Given the description of an element on the screen output the (x, y) to click on. 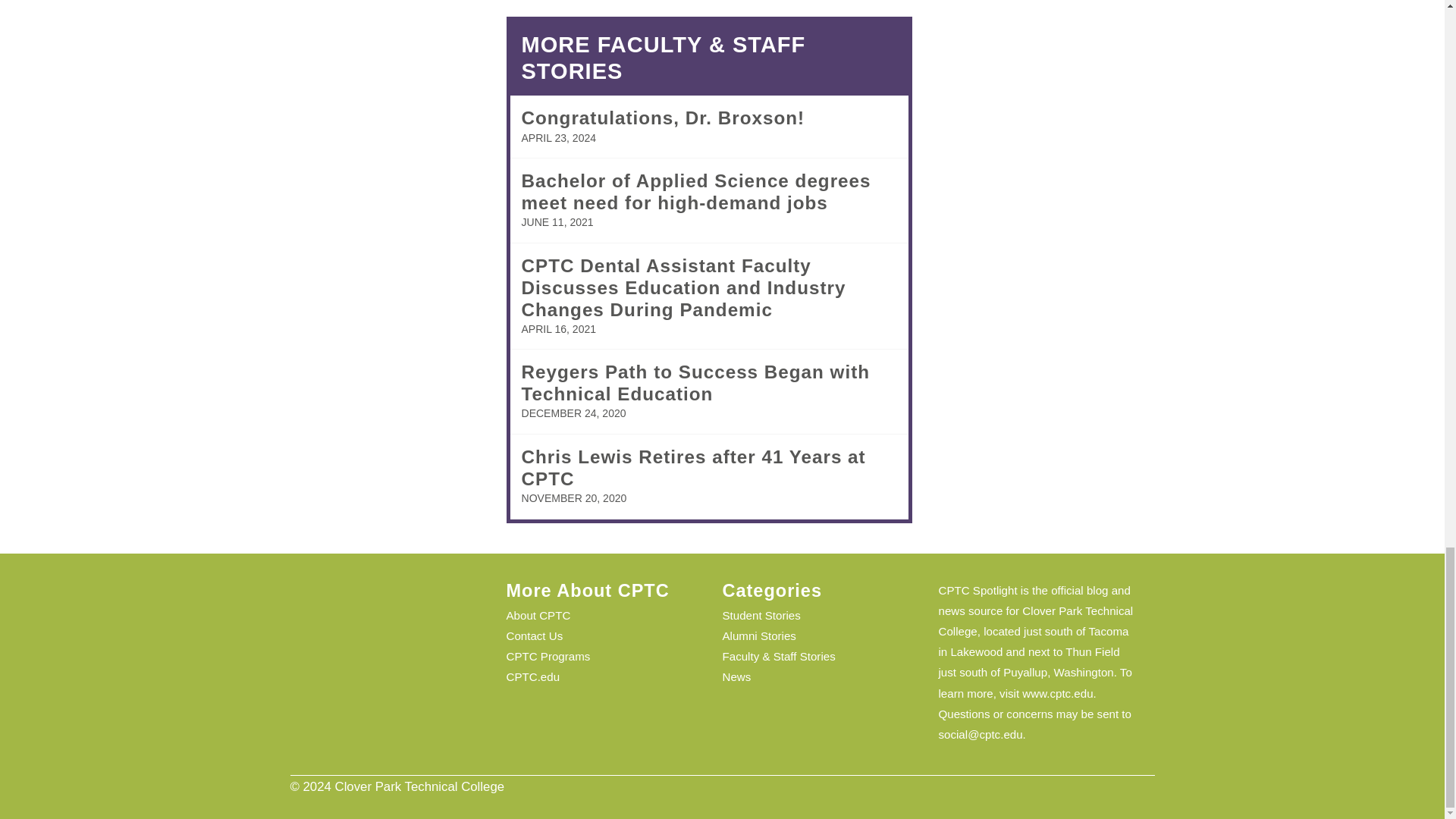
Student Stories (760, 615)
News (736, 676)
CPTC Programs (548, 656)
Congratulations, Dr. Broxson! (663, 117)
Reygers Path to Success Began with Technical Education (695, 382)
About CPTC (538, 615)
Chris Lewis Retires after 41 Years at CPTC (693, 467)
Contact Us (534, 635)
